Given the description of an element on the screen output the (x, y) to click on. 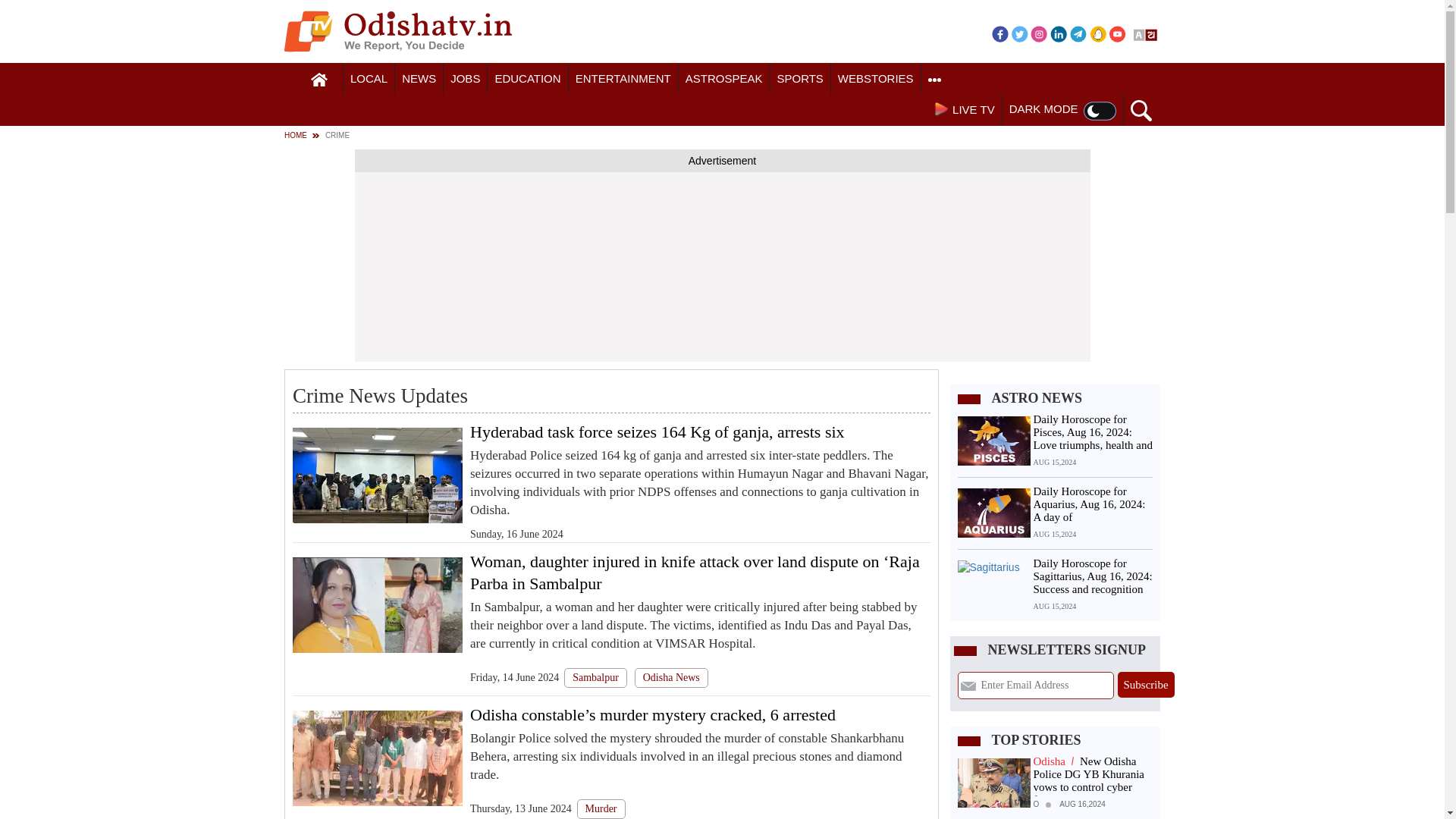
Telegram (1078, 33)
Odisha (368, 78)
Facebook (1000, 33)
NEWS (418, 78)
LinkedIn (1058, 33)
JOBS (465, 78)
News (418, 78)
Youtube (1117, 33)
Koo (1097, 33)
Twitter (1019, 33)
